Given the description of an element on the screen output the (x, y) to click on. 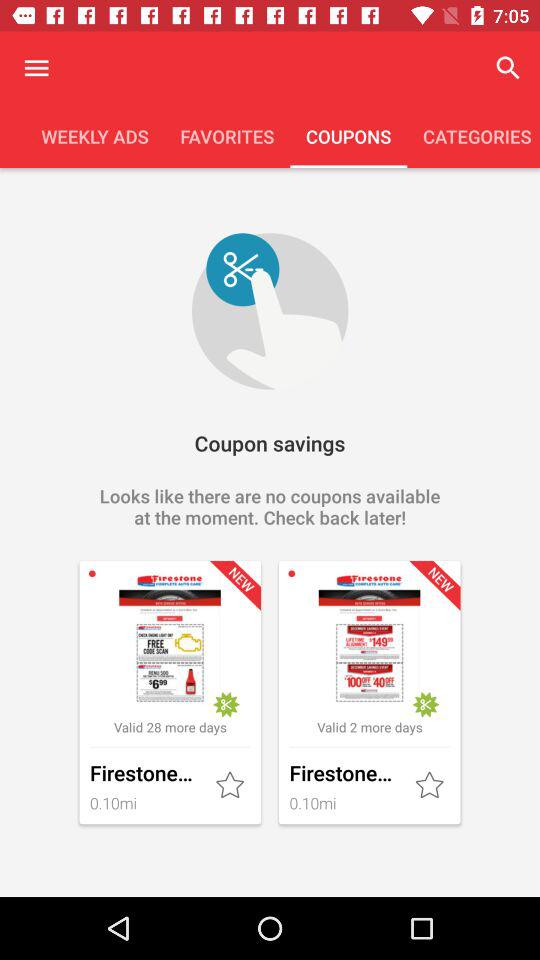
select this as a favorite (431, 786)
